Given the description of an element on the screen output the (x, y) to click on. 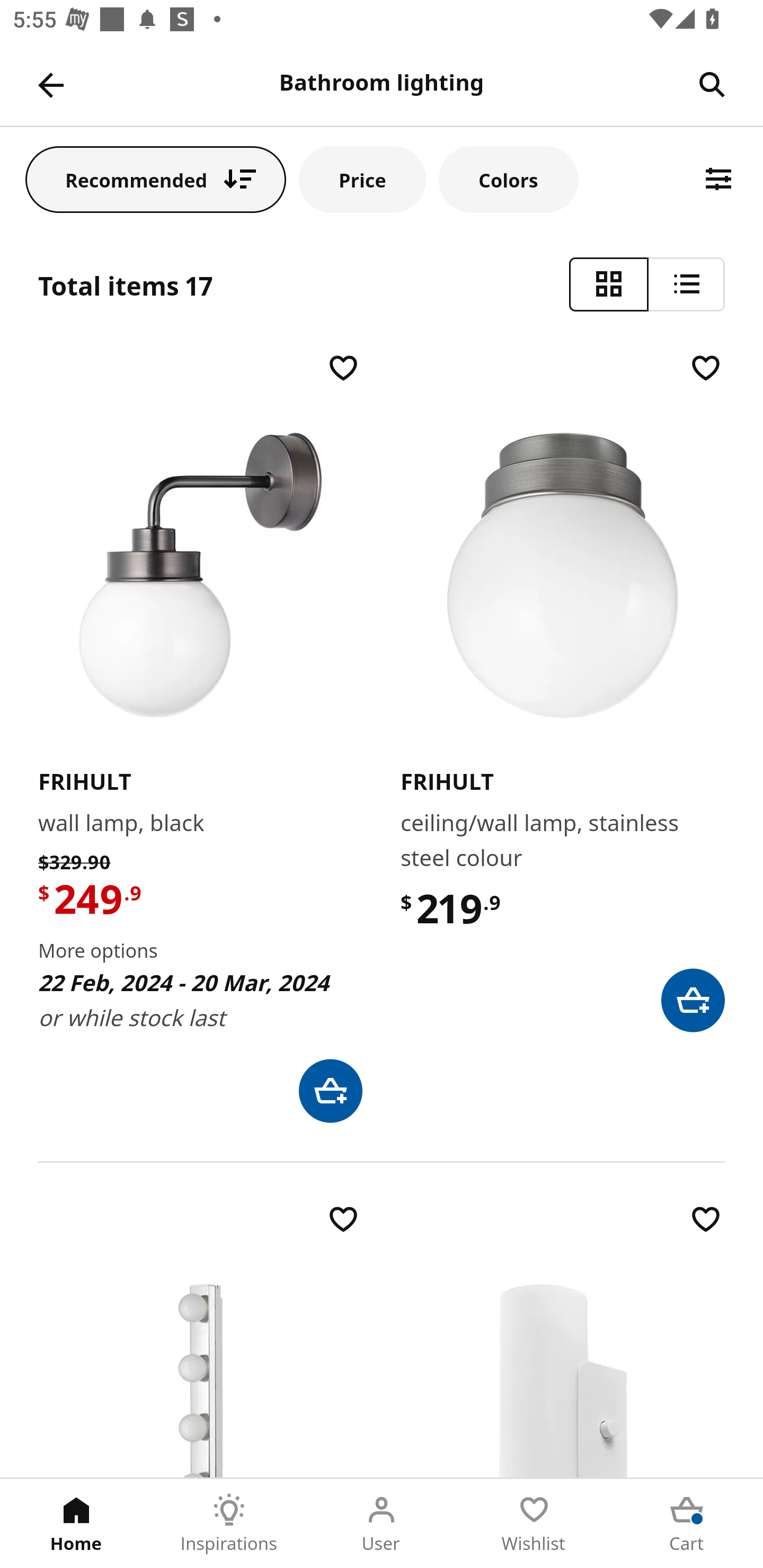
Recommended (155, 179)
Price (362, 179)
Colors (508, 179)
Home
Tab 1 of 5 (76, 1522)
Inspirations
Tab 2 of 5 (228, 1522)
User
Tab 3 of 5 (381, 1522)
Wishlist
Tab 4 of 5 (533, 1522)
Cart
Tab 5 of 5 (686, 1522)
